Given the description of an element on the screen output the (x, y) to click on. 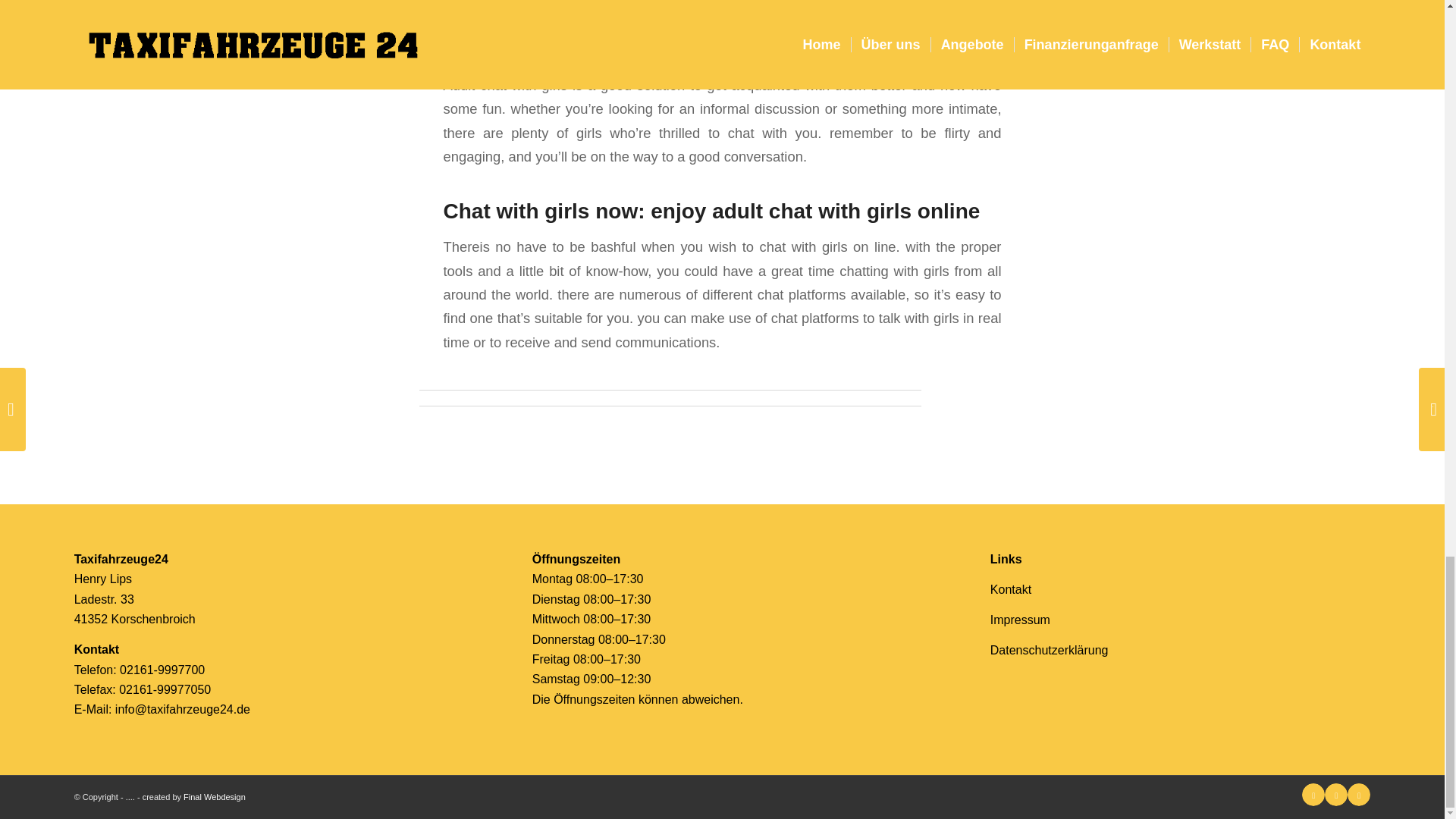
Dribbble (1336, 793)
Instagram (1359, 793)
Twitter (1312, 793)
Kontakt (1010, 589)
Impressum (1019, 619)
Final Webdesign (214, 796)
